Given the description of an element on the screen output the (x, y) to click on. 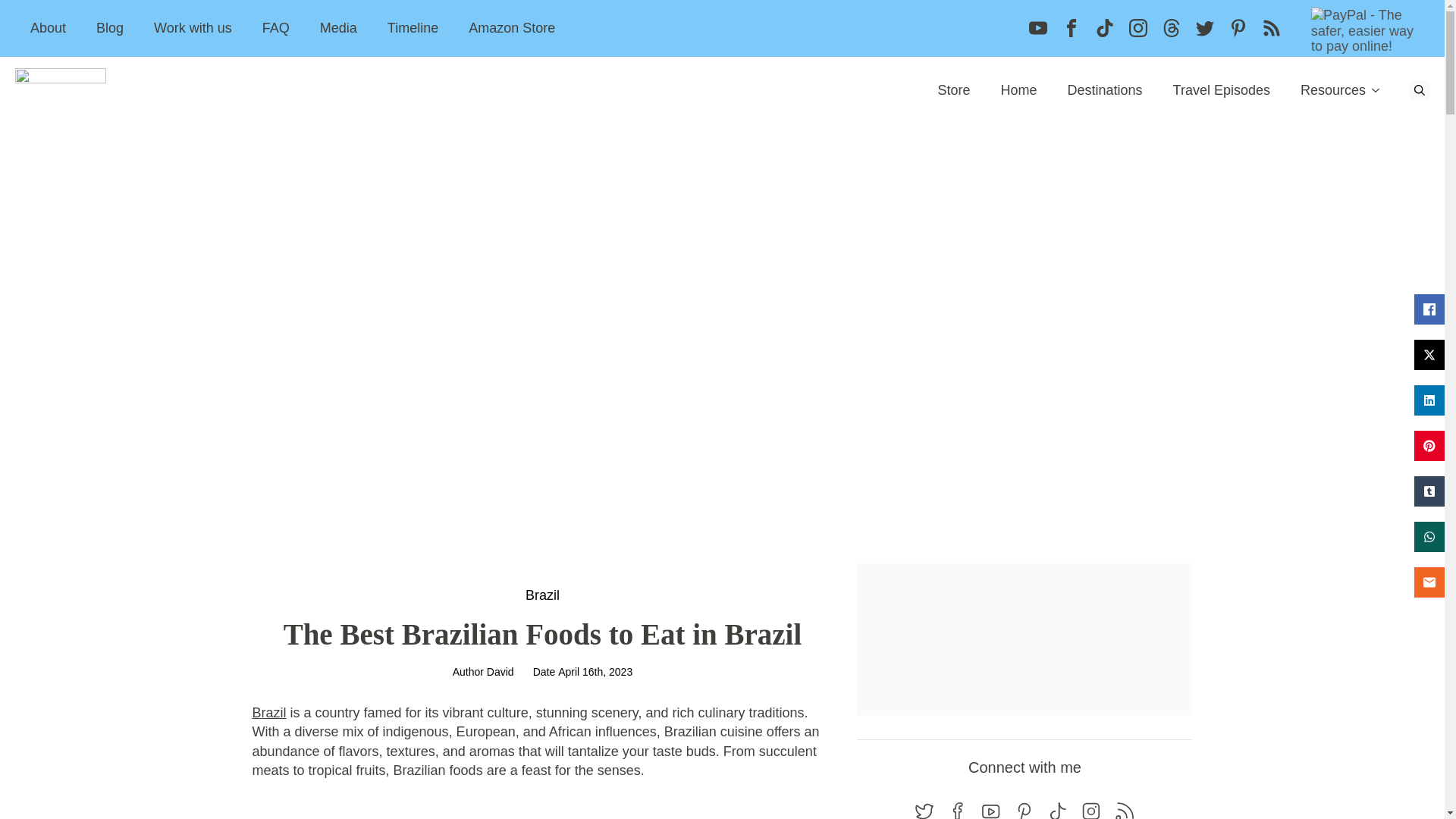
Work with us (192, 27)
Media (338, 27)
Amazon Store (511, 27)
Timeline (412, 27)
FAQ (275, 27)
PayPal - The safer, easier way to pay online! (1368, 30)
Store (953, 89)
About (47, 27)
Home (1018, 89)
Resources (1325, 89)
